Given the description of an element on the screen output the (x, y) to click on. 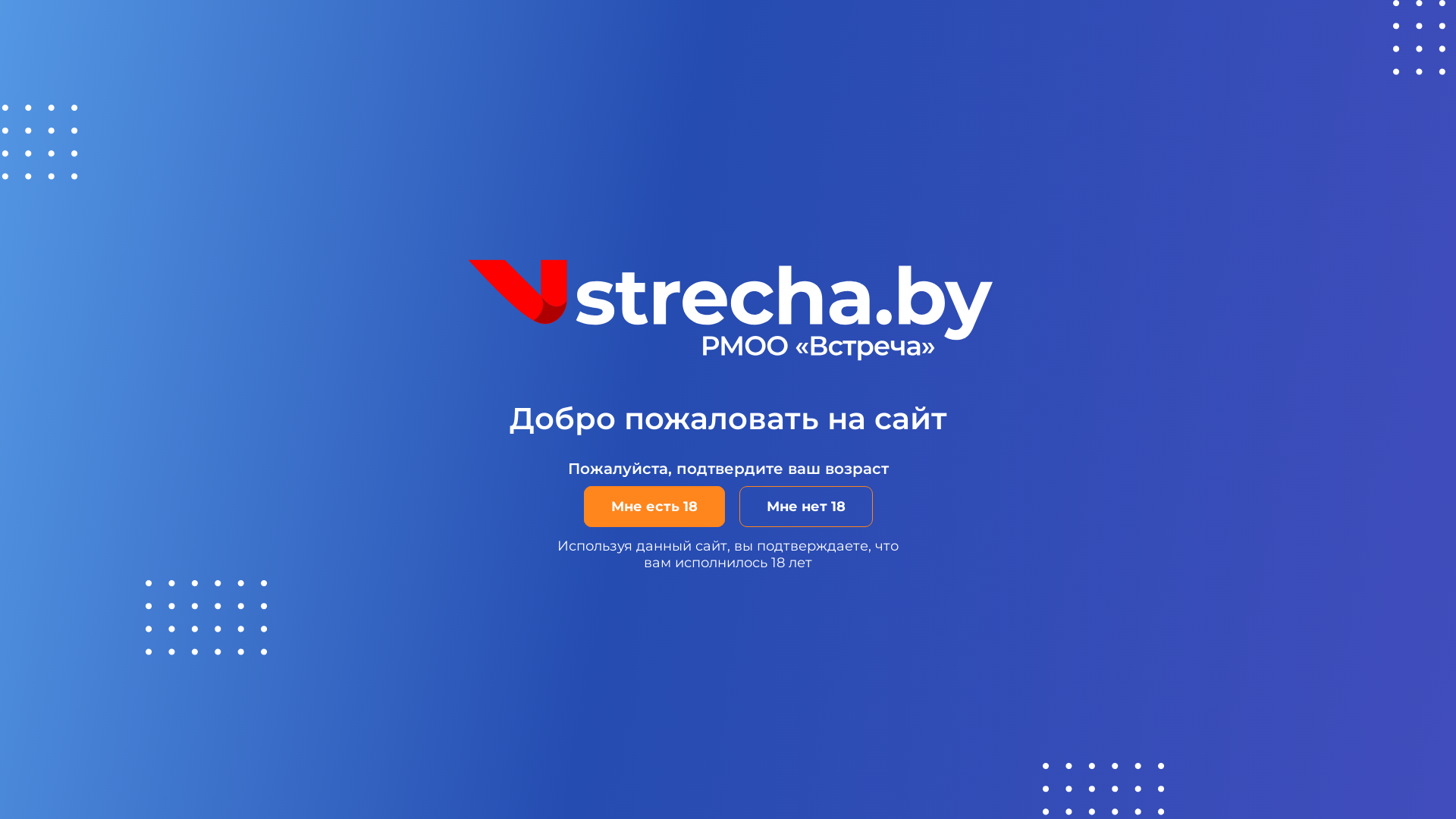
info@vstrecha.by Element type: text (1077, 620)
RU Element type: text (1184, 42)
+375 (17) 356-16-73 Element type: text (1137, 596)
